Given the description of an element on the screen output the (x, y) to click on. 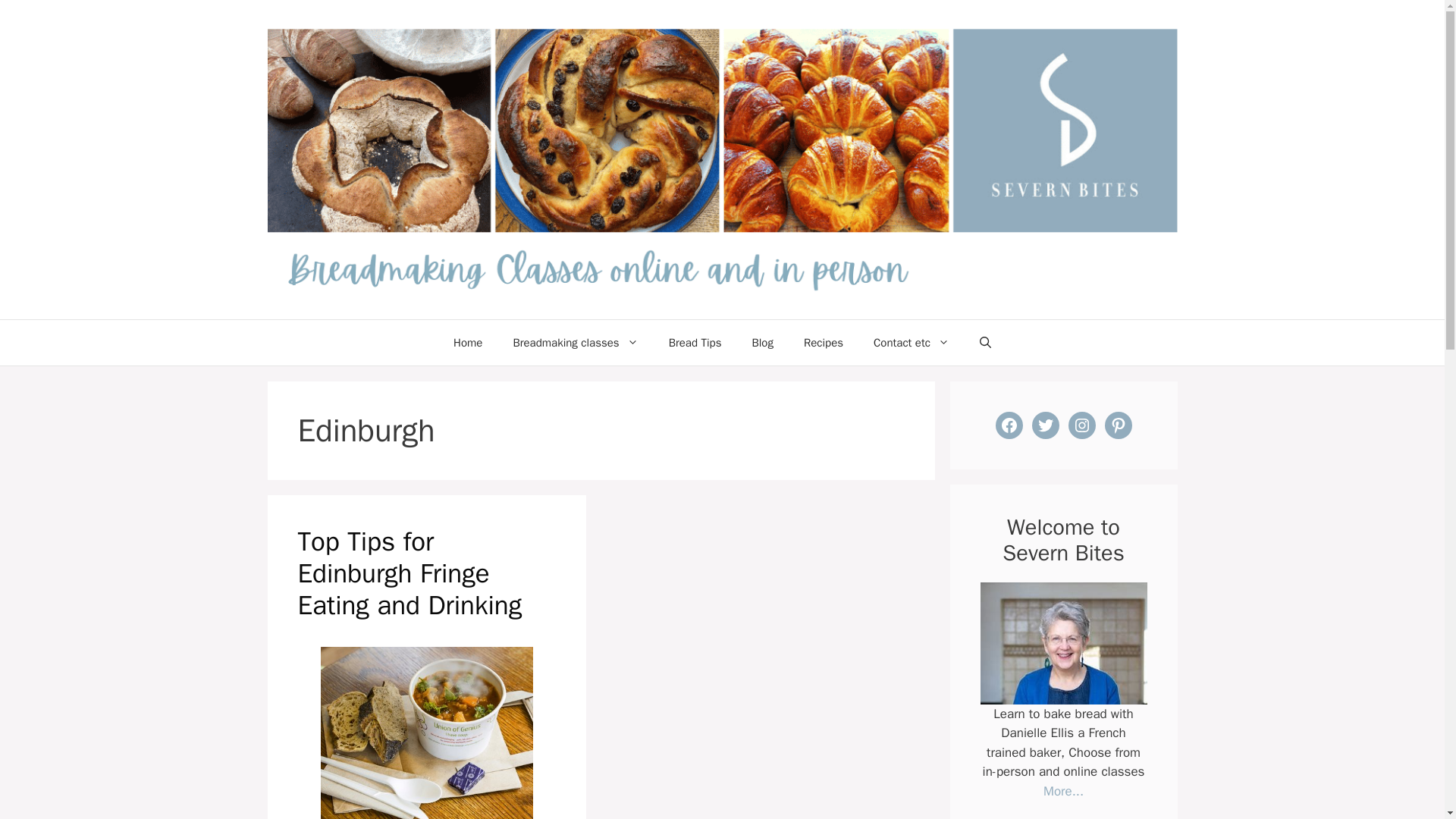
Recipes (824, 342)
Contact etc (911, 342)
Home (467, 342)
Blog (761, 342)
Pinterest (1117, 424)
Top Tips for Edinburgh Fringe Eating and Drinking (409, 572)
Twitter (1044, 424)
Breadmaking classes (574, 342)
Instagram (1080, 424)
Bread Tips (694, 342)
